Given the description of an element on the screen output the (x, y) to click on. 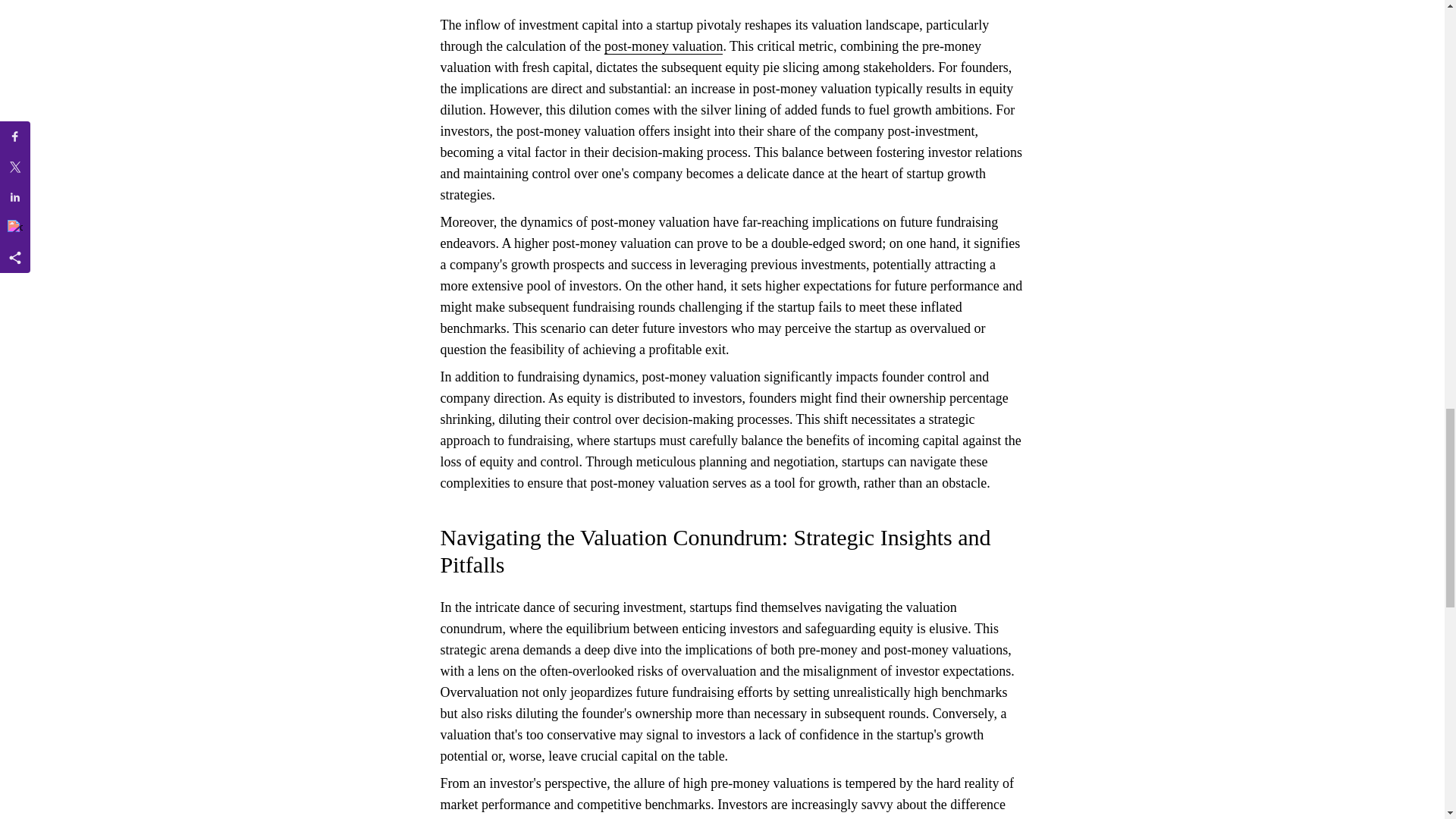
post-money valuation (663, 46)
